Given the description of an element on the screen output the (x, y) to click on. 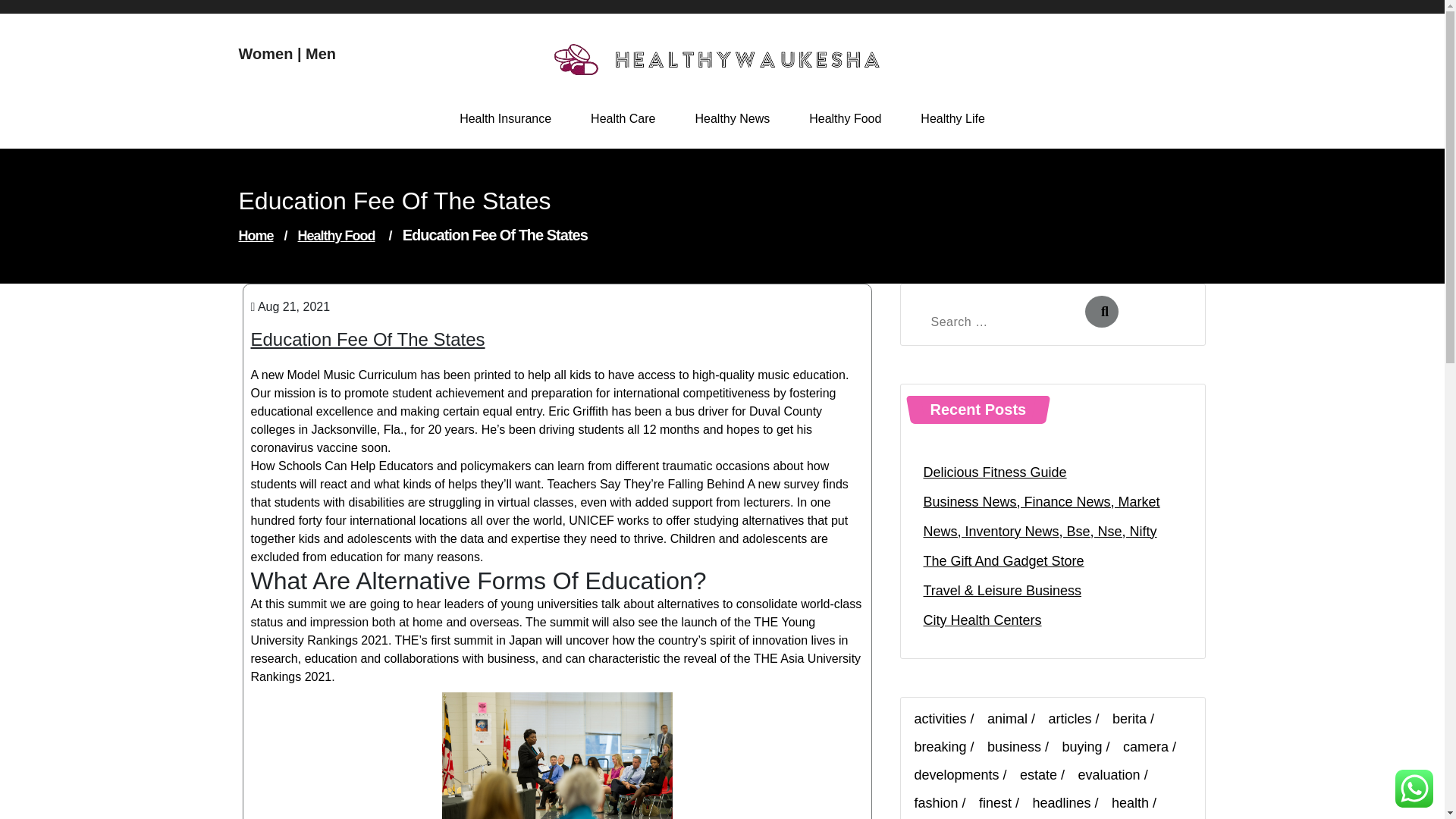
buying (1090, 747)
Search (1101, 311)
articles (1077, 719)
The Gift And Gadget Store (1003, 561)
Healthy Food (336, 235)
City Health Centers (982, 620)
berita (1136, 719)
breaking (947, 747)
Home (255, 235)
estate (1045, 774)
Healthy Food (844, 118)
evaluation (1117, 774)
Health Insurance (505, 118)
camera (1152, 747)
